Given the description of an element on the screen output the (x, y) to click on. 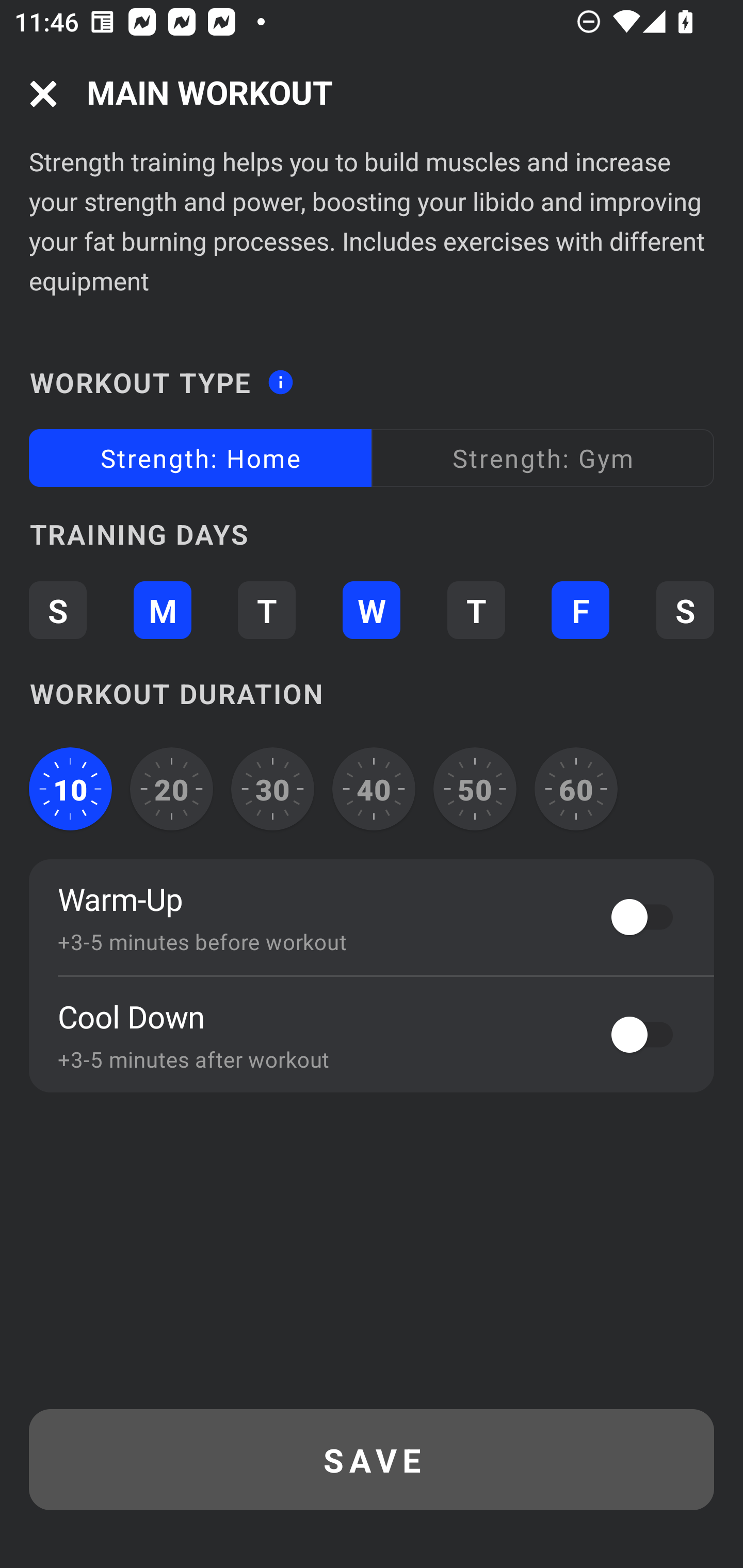
Navigation icon (43, 93)
Workout type information button (280, 375)
Strength: Home (199, 457)
Strength: Gym (542, 457)
S (57, 610)
T (266, 610)
T (476, 610)
S (684, 610)
10 (70, 789)
20 (171, 789)
30 (272, 789)
40 (373, 789)
50 (474, 789)
60 (575, 789)
SAVE (371, 1459)
